Given the description of an element on the screen output the (x, y) to click on. 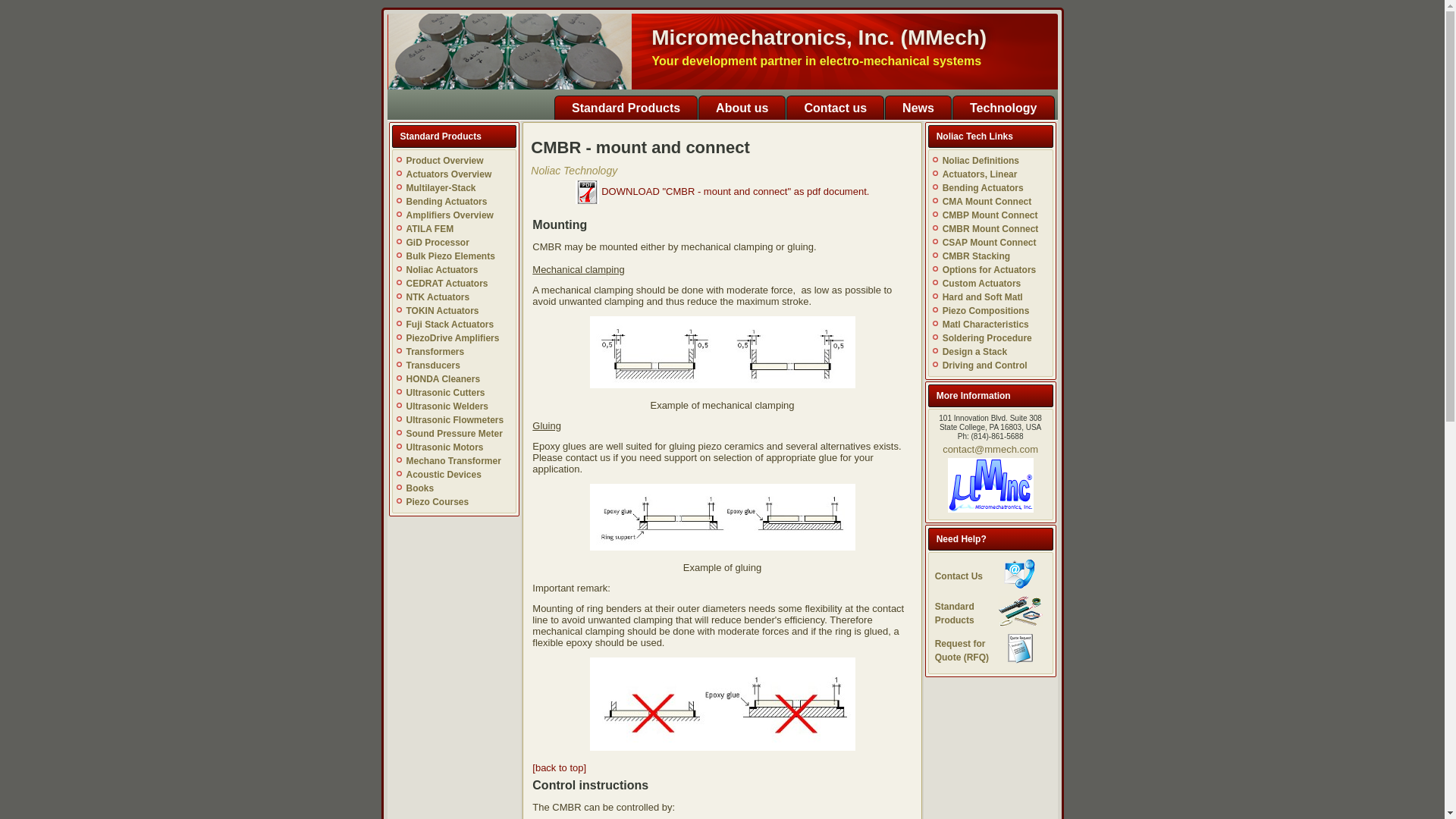
Standard Products (625, 107)
